Given the description of an element on the screen output the (x, y) to click on. 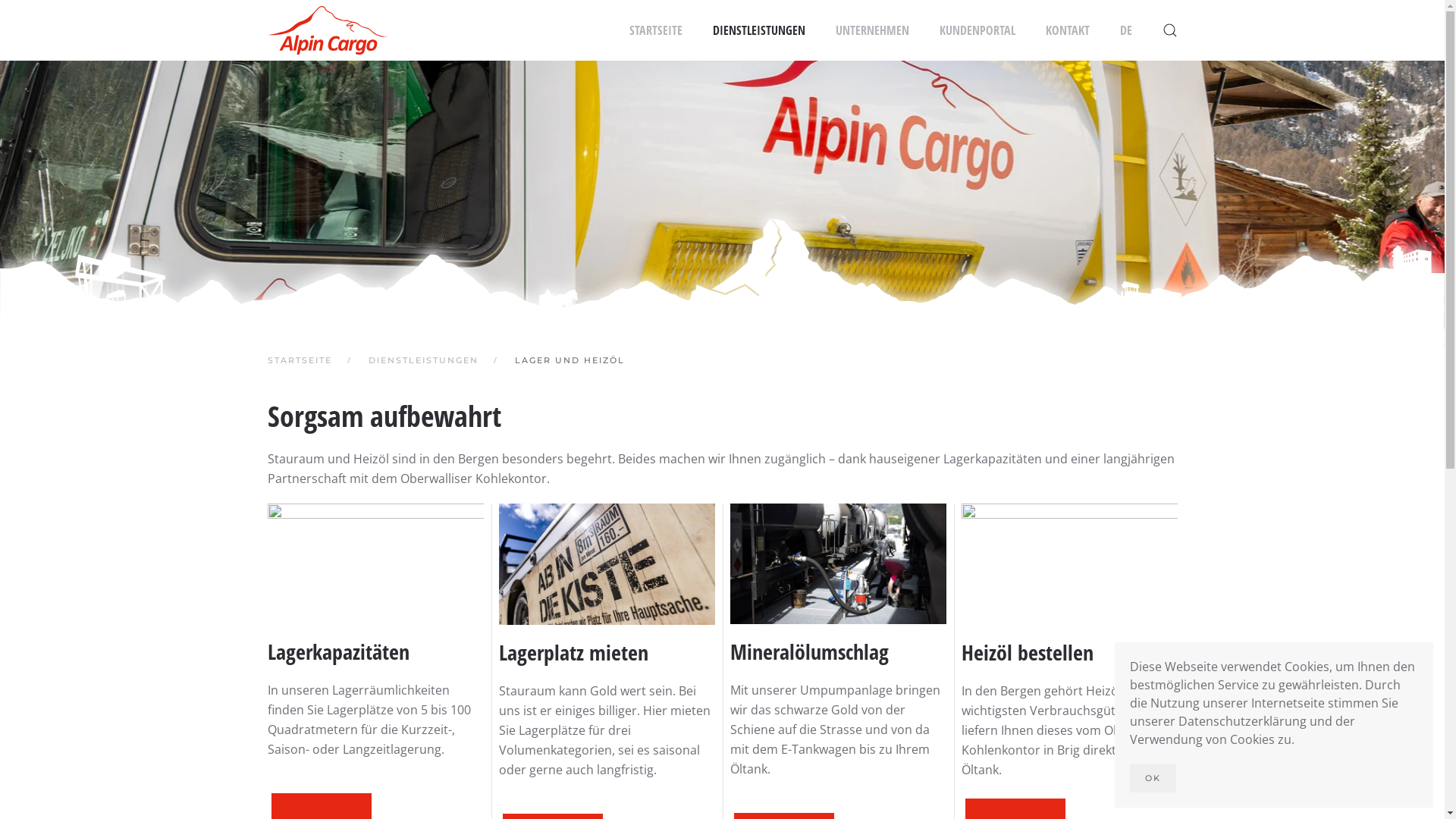
Lagerplatz mieten Element type: text (573, 651)
DE Element type: text (1125, 30)
UNTERNEHMEN Element type: text (872, 30)
STARTSEITE Element type: text (298, 359)
STARTSEITE Element type: text (655, 30)
KUNDENPORTAL Element type: text (976, 30)
DIENSTLEISTUNGEN Element type: text (758, 30)
DIENSTLEISTUNGEN Element type: text (423, 359)
OK Element type: text (1152, 777)
KONTAKT Element type: text (1066, 30)
